Given the description of an element on the screen output the (x, y) to click on. 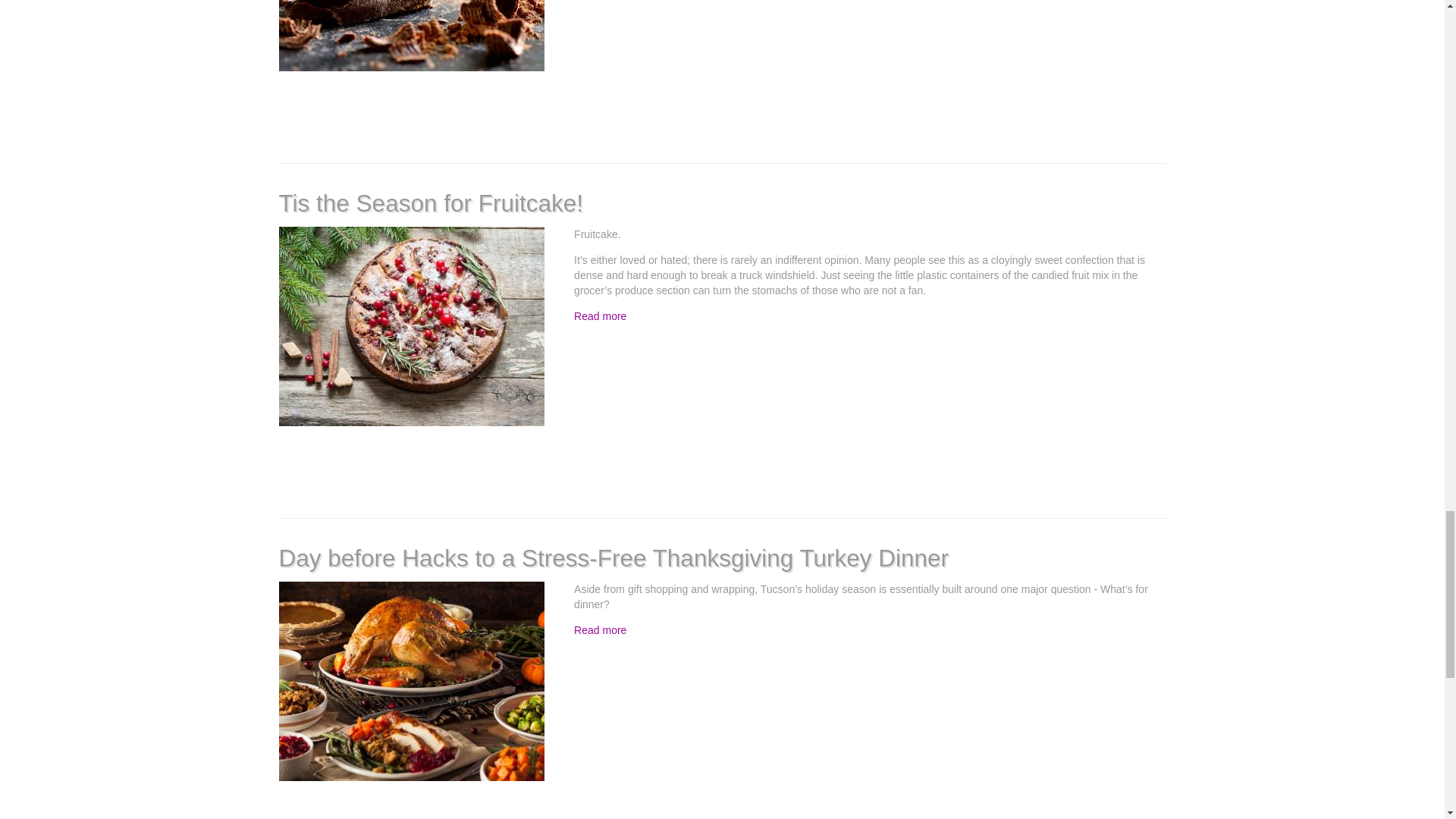
Read more (599, 630)
Read more (599, 316)
